Given the description of an element on the screen output the (x, y) to click on. 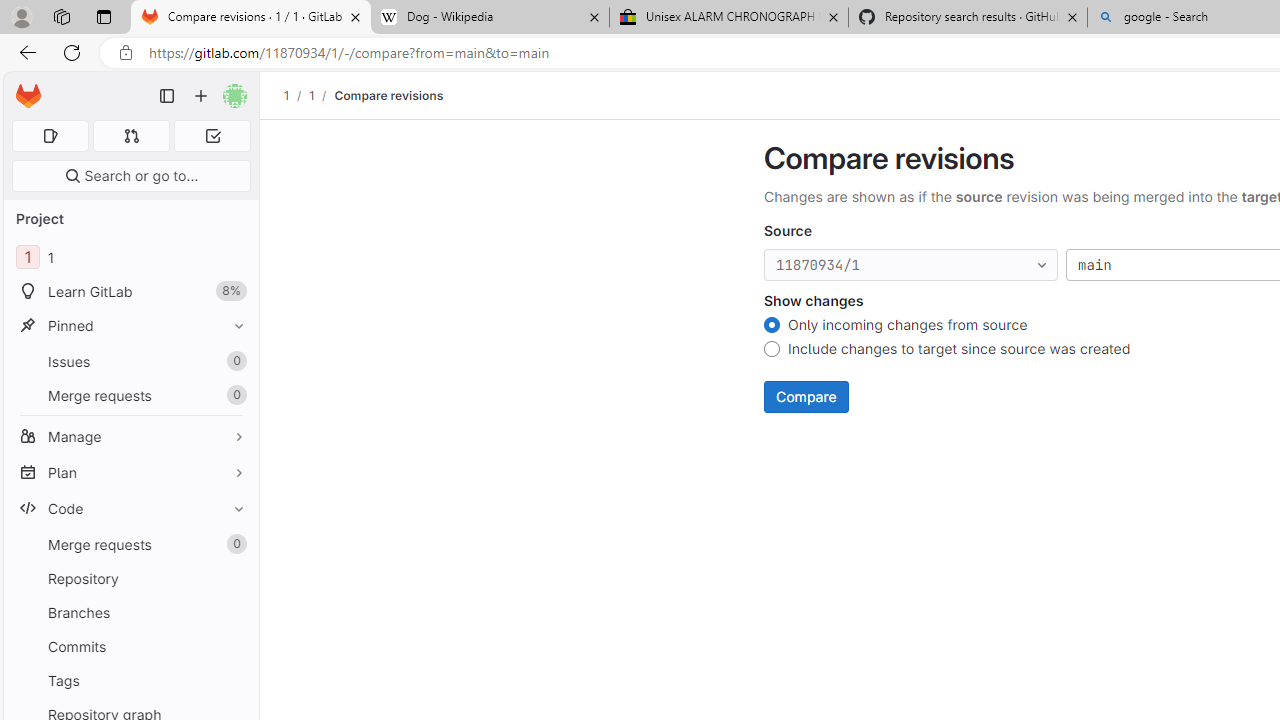
Pin Branches (234, 611)
Compare revisions (389, 95)
Learn GitLab 8% (130, 291)
Issues 0 (130, 361)
Compare (806, 396)
Branches (130, 612)
Commits (130, 646)
Merge requests 0 (131, 136)
Unpin Merge requests (234, 544)
Commits (130, 646)
